Given the description of an element on the screen output the (x, y) to click on. 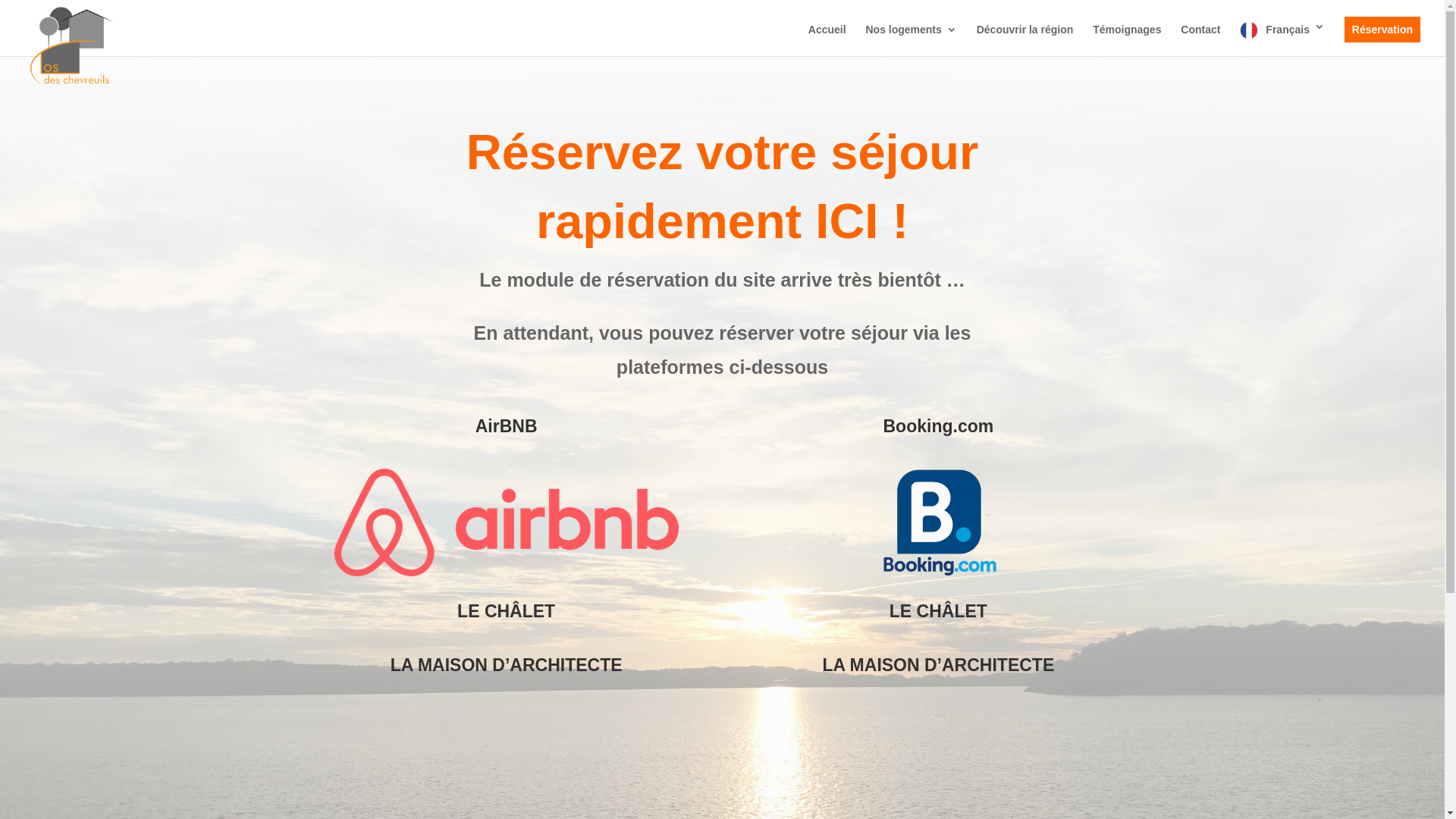
Nos logements Element type: text (910, 37)
Contact Element type: text (1200, 37)
Accueil Element type: text (827, 37)
